Given the description of an element on the screen output the (x, y) to click on. 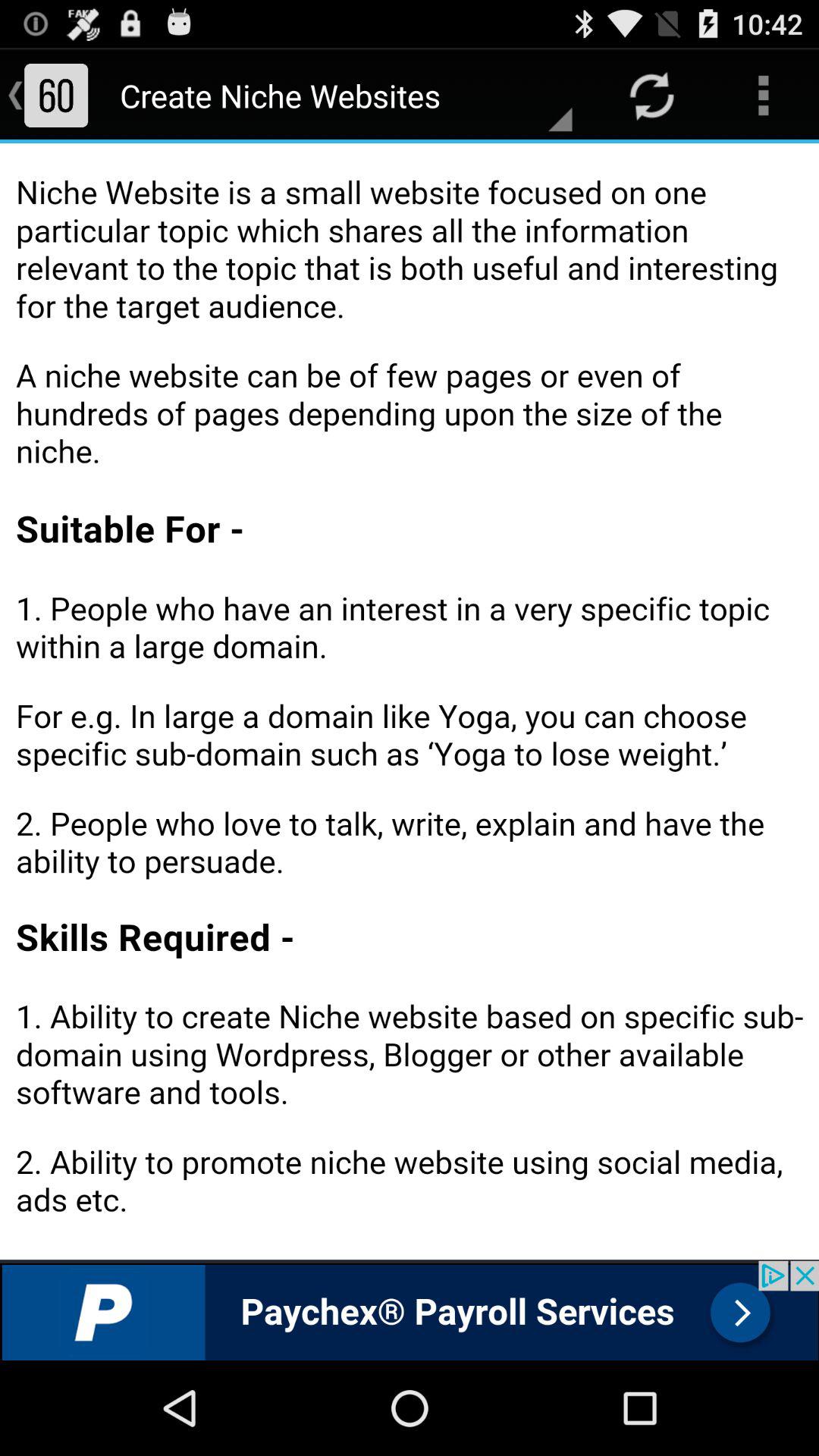
view advert (409, 1310)
